Given the description of an element on the screen output the (x, y) to click on. 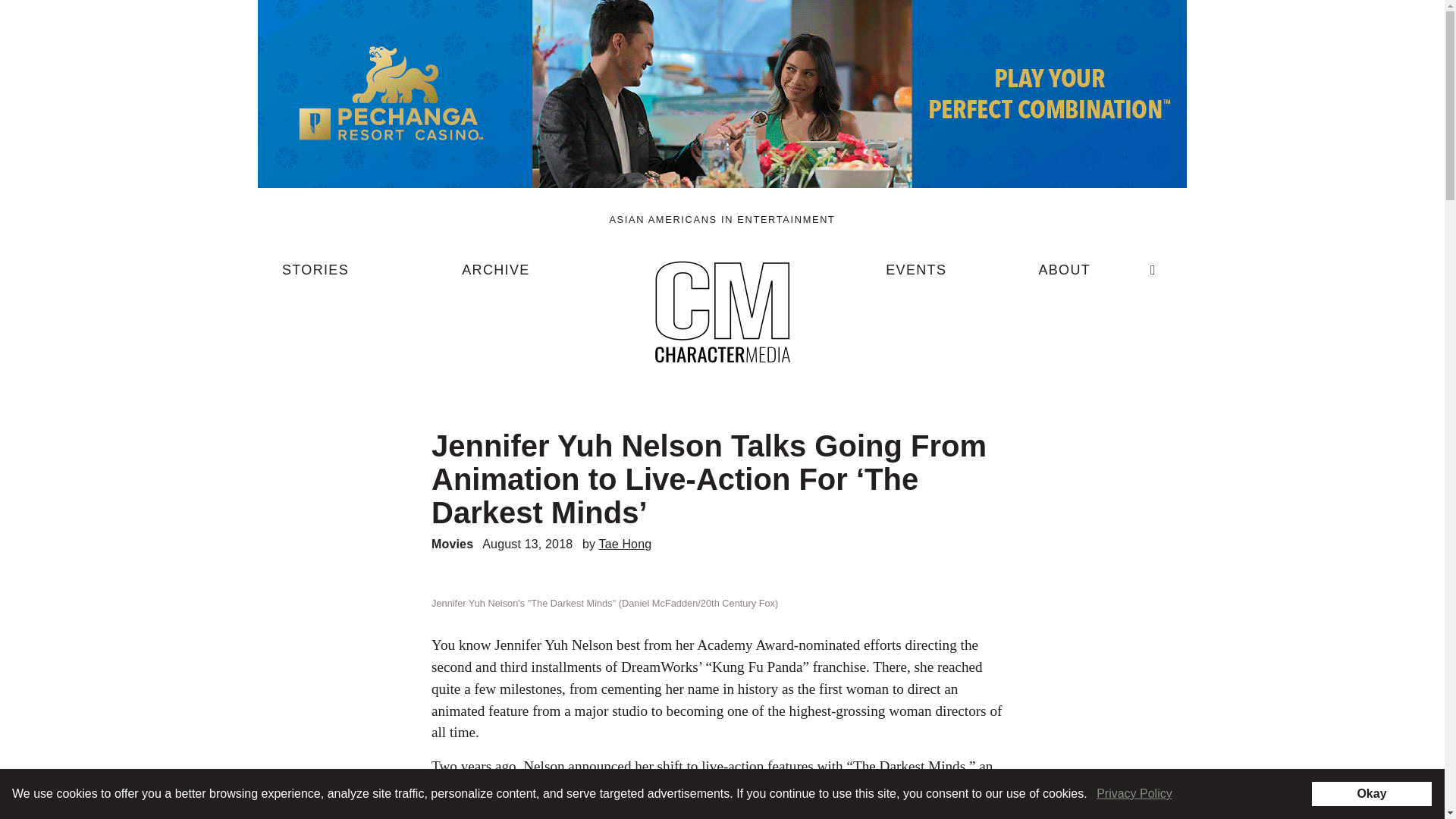
ABOUT (1064, 276)
STORIES (315, 276)
EVENTS (915, 276)
ARCHIVE (495, 276)
Movies (451, 543)
Tae Hong (624, 543)
